Given the description of an element on the screen output the (x, y) to click on. 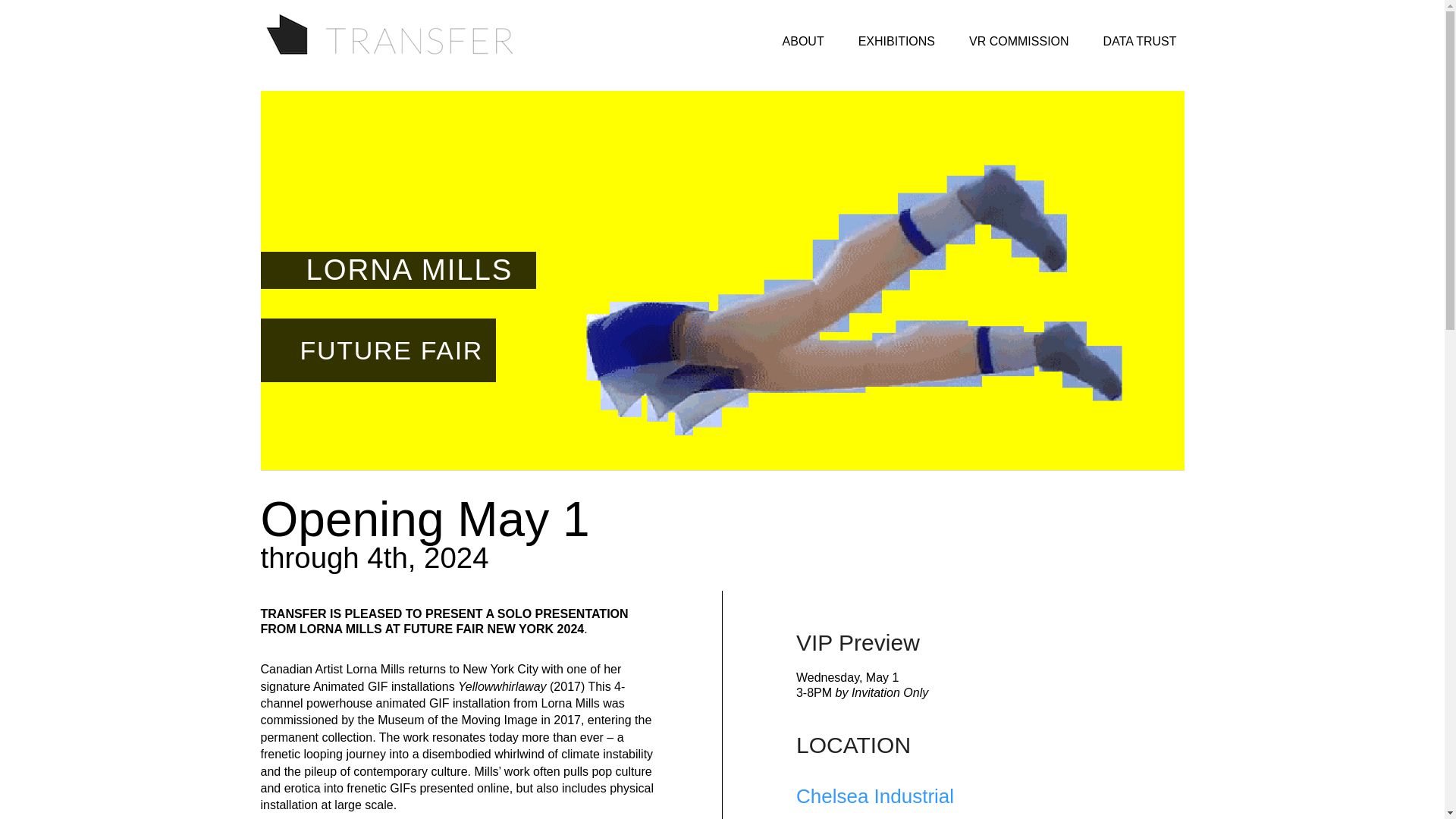
Chelsea Industrial (874, 795)
EXHIBITIONS (896, 41)
TRANSFER (392, 18)
VR COMMISSION (1018, 41)
ABOUT (802, 41)
DATA TRUST (1140, 41)
